Given the description of an element on the screen output the (x, y) to click on. 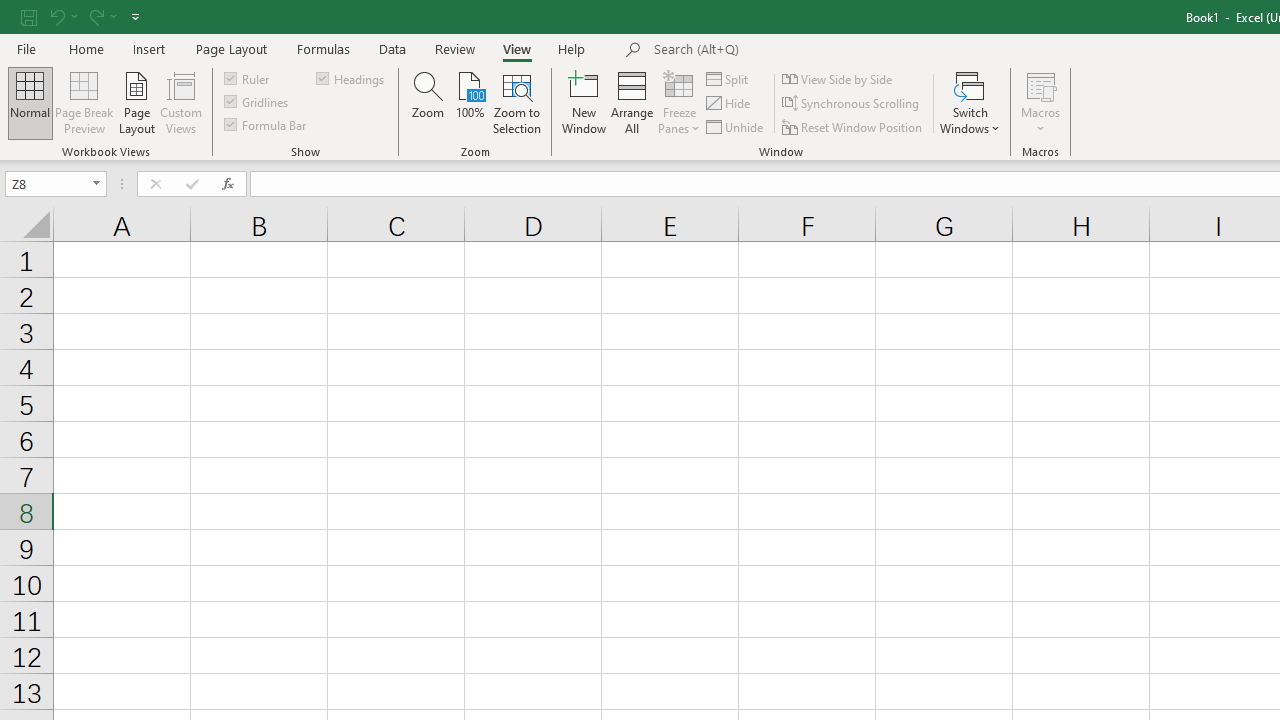
Reset Window Position (854, 126)
Headings (351, 78)
Ruler (248, 78)
Hide (729, 103)
